Given the description of an element on the screen output the (x, y) to click on. 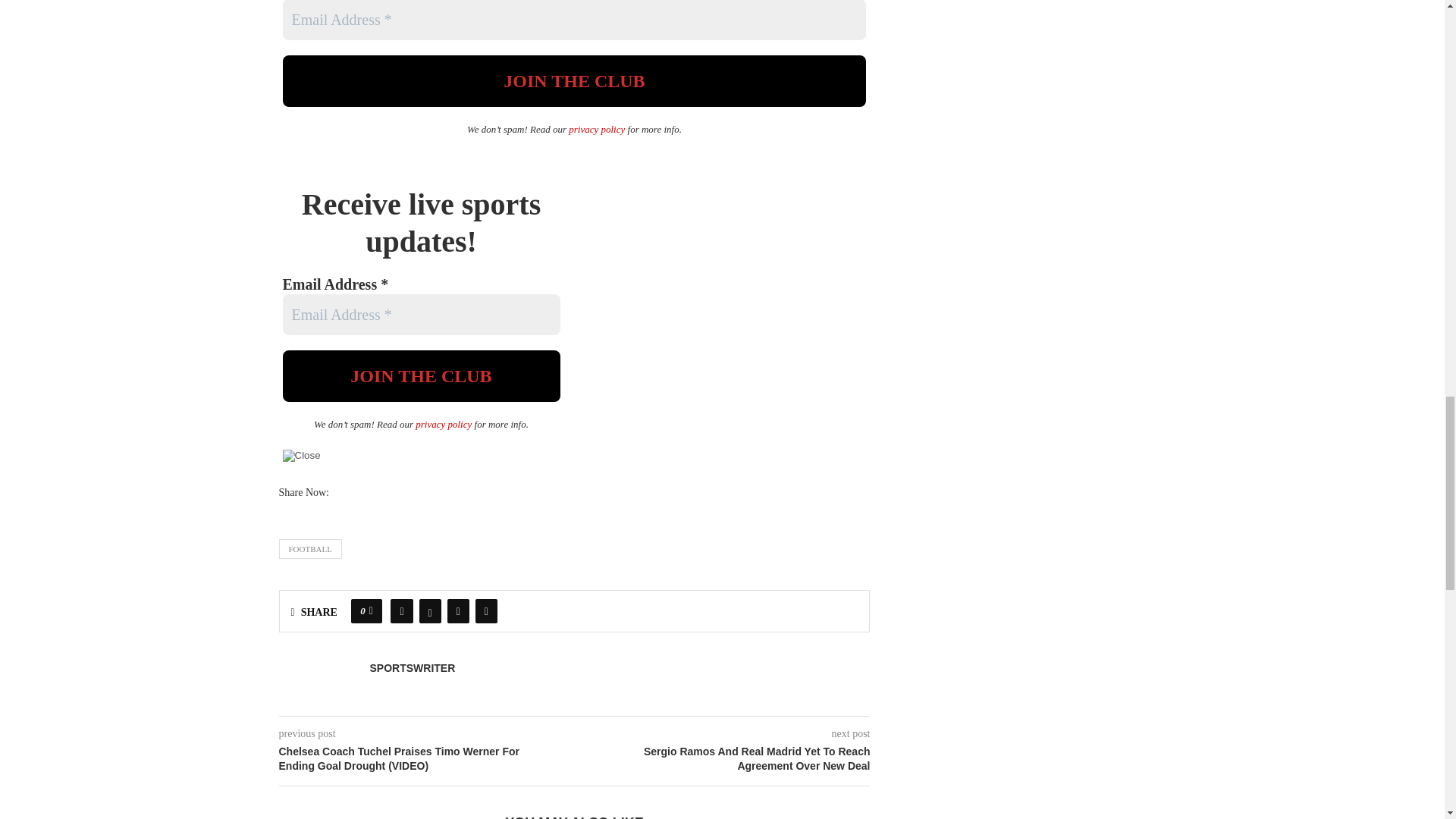
Email Address (574, 20)
JOIN THE CLUB (574, 81)
Author SportsWriter (412, 667)
Email Address (420, 314)
JOIN THE CLUB (420, 376)
